Given the description of an element on the screen output the (x, y) to click on. 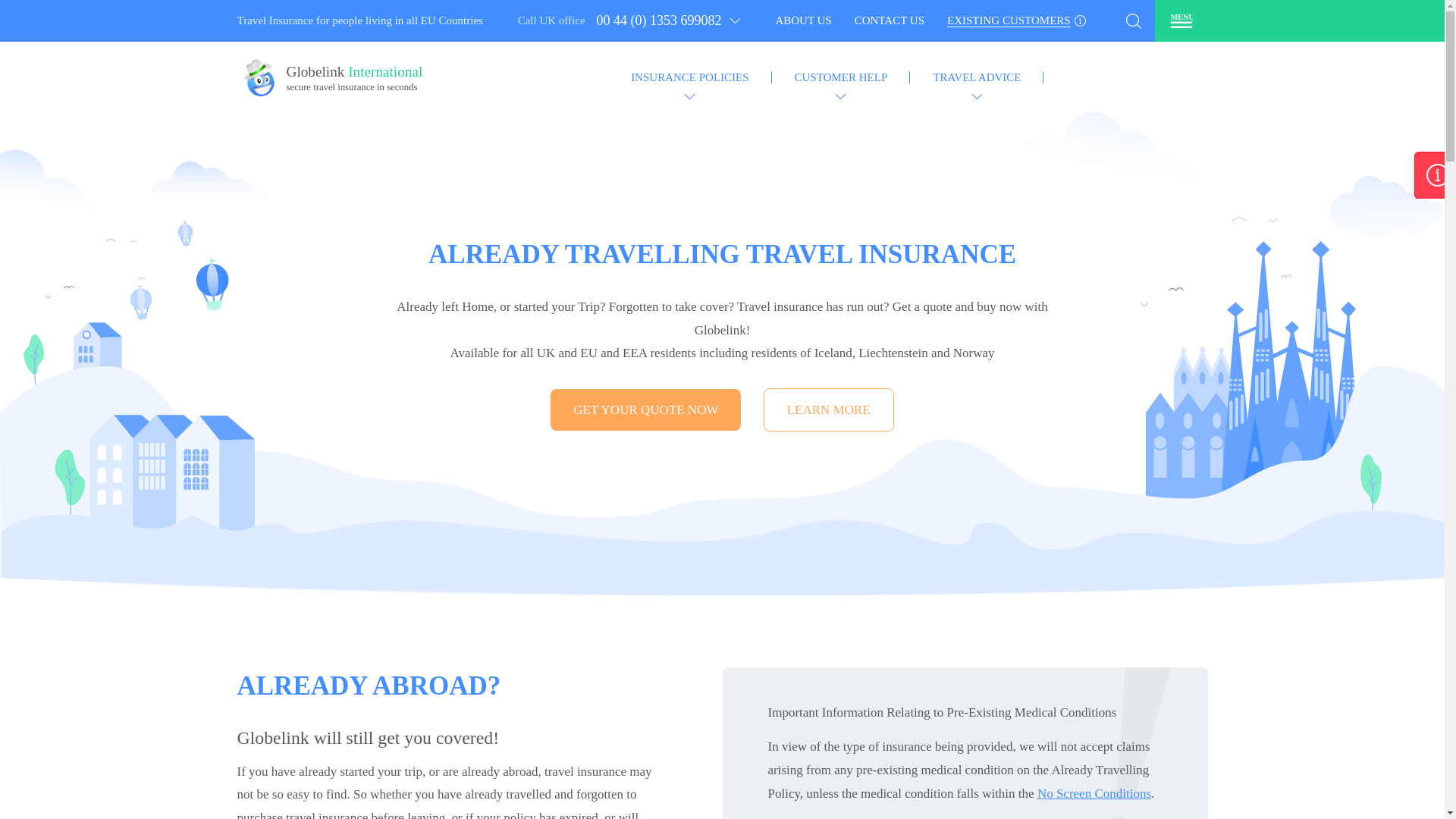
MENU (1180, 20)
CONTACT US (355, 81)
ABOUT US (889, 20)
EXISTING CUSTOMERS (802, 20)
